Given the description of an element on the screen output the (x, y) to click on. 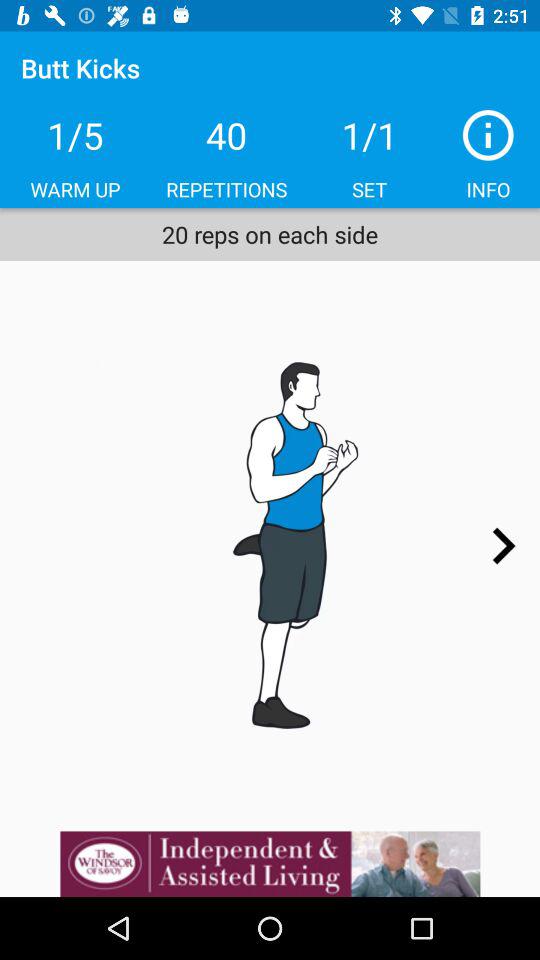
open an advertisement (270, 864)
